Given the description of an element on the screen output the (x, y) to click on. 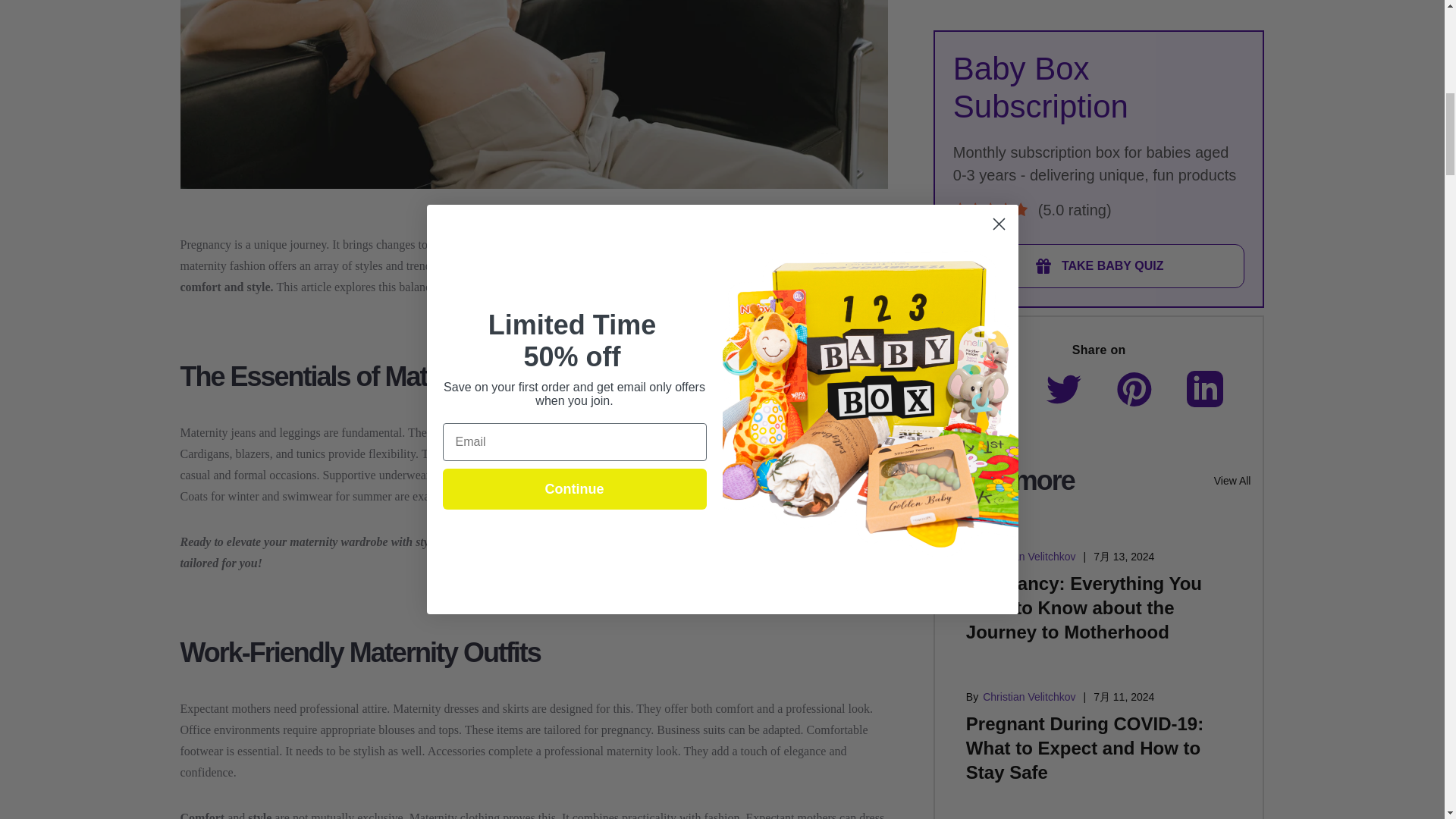
Childbirth Without Insurance: What Are Your Options? (1093, 702)
Subscribe now (548, 541)
View All (1232, 167)
